Given the description of an element on the screen output the (x, y) to click on. 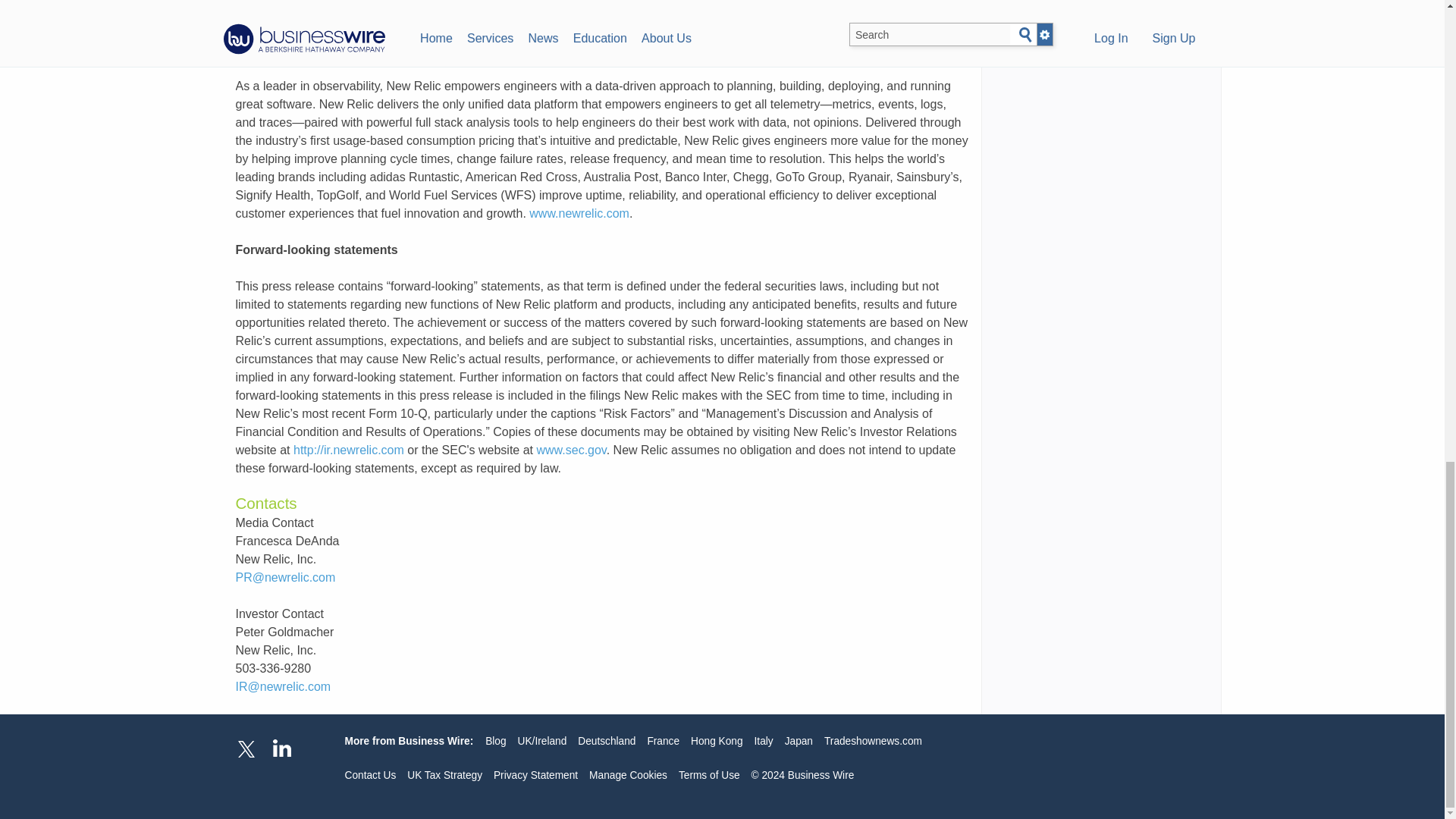
www.newrelic.com (578, 213)
www.newrelic.com (284, 0)
www.sec.gov (572, 449)
